Given the description of an element on the screen output the (x, y) to click on. 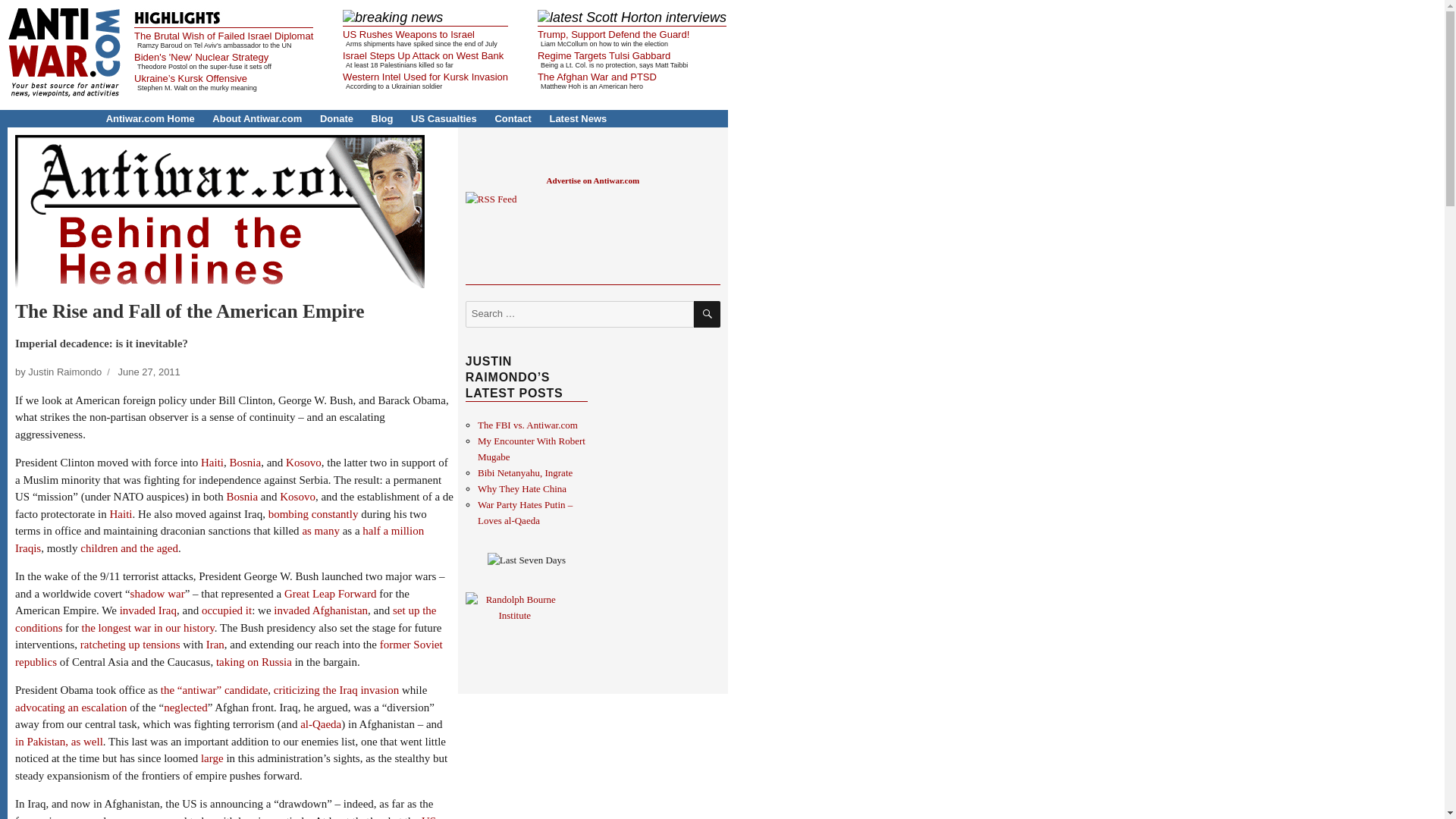
Biden's 'New' Nuclear Strategy (200, 57)
Blog (382, 118)
Haiti (212, 462)
Bosnia (244, 462)
The Afghan War and PTSD (596, 76)
US Casualties (443, 118)
Israel Steps Up Attack on West Bank (422, 55)
Haiti (121, 513)
Contact (513, 118)
About Antiwar.com (256, 118)
